Given the description of an element on the screen output the (x, y) to click on. 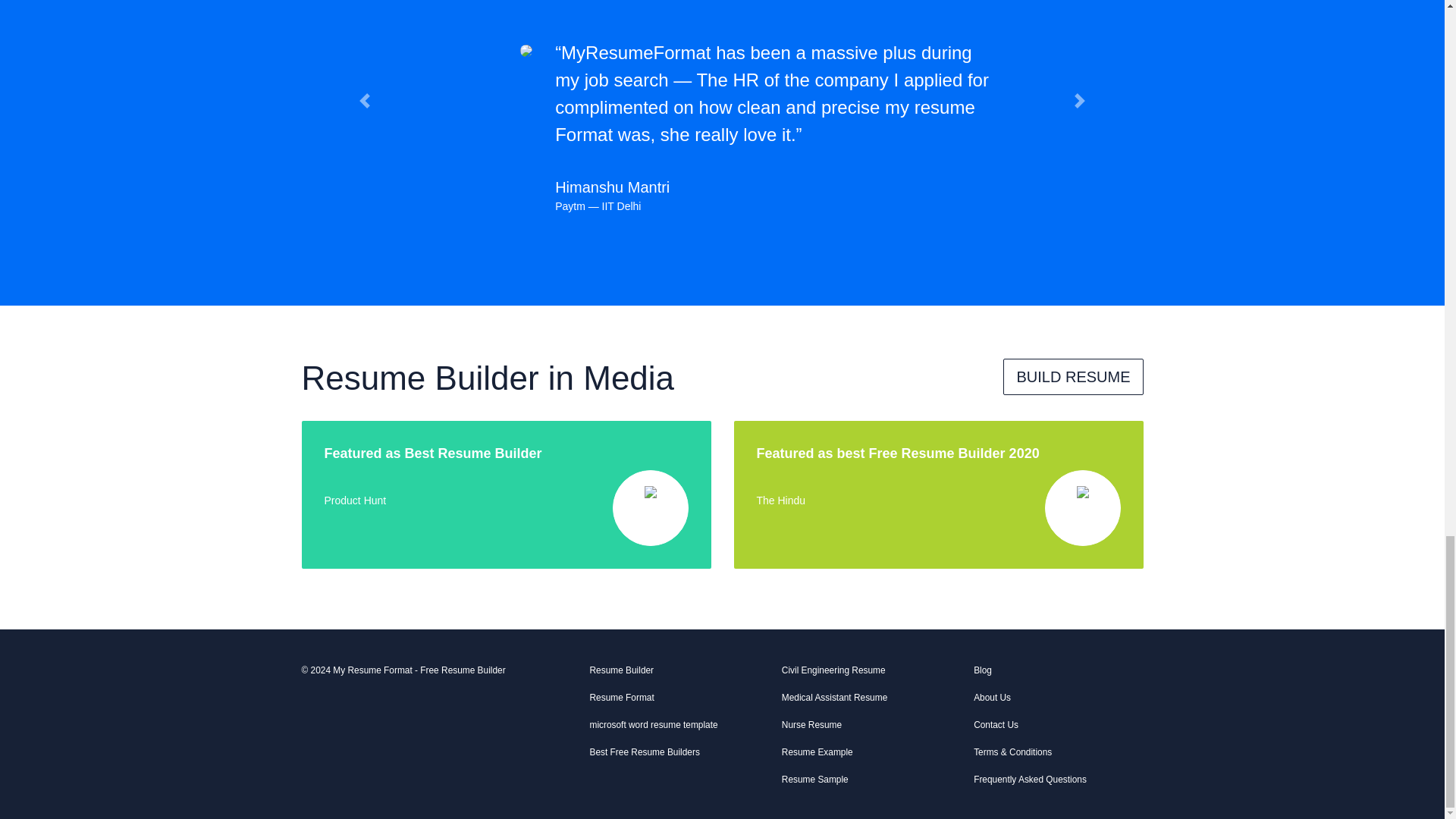
Frequently Asked Questions (1058, 782)
Nurse Resume (865, 728)
Resume Format (673, 700)
About Us (1058, 700)
microsoft word resume template (673, 728)
Best Free Resume Builders (673, 755)
Medical Assistant Resume (865, 700)
Civil Engineering Resume (865, 673)
Contact Us (1058, 728)
BUILD RESUME (1072, 376)
The Hindu (781, 500)
Resume Sample (865, 782)
Product Hunt (355, 500)
Resume Example (865, 755)
My Resume Format - Free Resume Builder (419, 670)
